Given the description of an element on the screen output the (x, y) to click on. 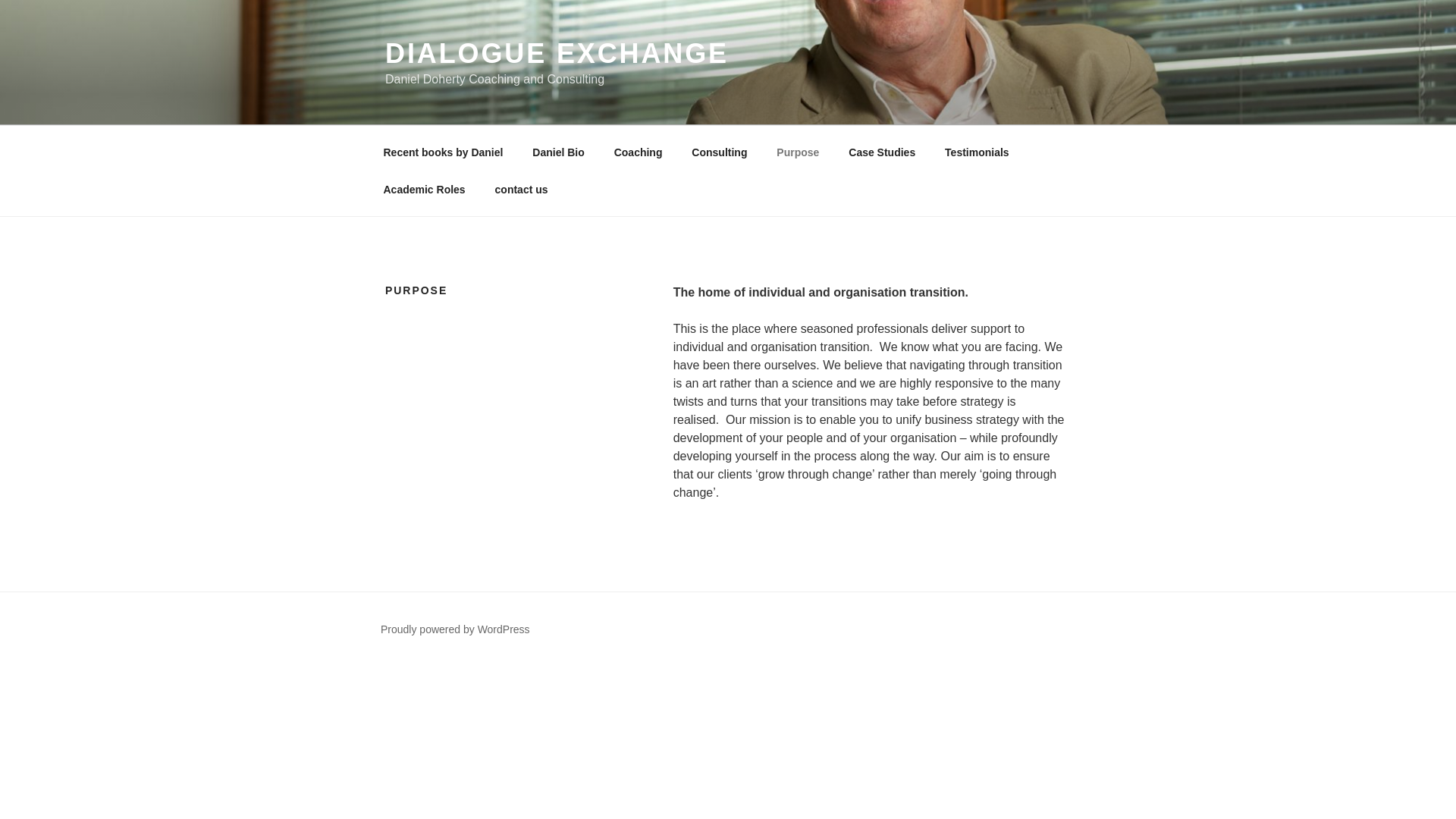
DIALOGUE EXCHANGE (557, 52)
Testimonials (977, 151)
Case Studies (881, 151)
Proudly powered by WordPress (454, 629)
Purpose (797, 151)
Consulting (719, 151)
Daniel Bio (557, 151)
contact us (520, 189)
Coaching (637, 151)
